Given the description of an element on the screen output the (x, y) to click on. 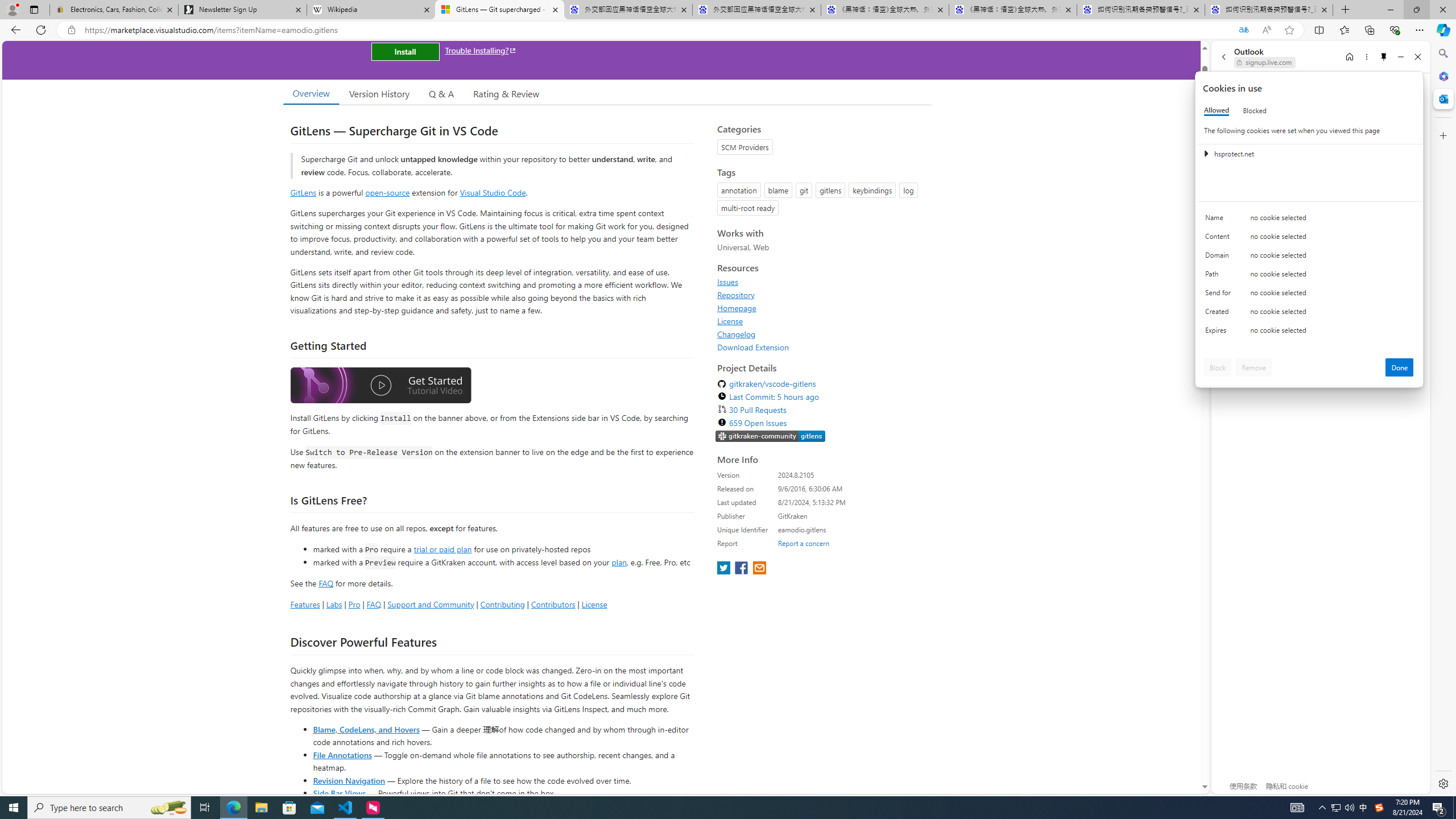
Class: c0153 c0157 (1309, 332)
Done (1399, 367)
Domain (1219, 257)
Block (1217, 367)
Remove (1253, 367)
no cookie selected (1331, 332)
Blocked (1255, 110)
Content (1219, 239)
Send for (1219, 295)
Expires (1219, 332)
Name (1219, 220)
Allowed (1216, 110)
Created (1219, 313)
Class: c0153 c0157 c0154 (1309, 220)
Path (1219, 276)
